Given the description of an element on the screen output the (x, y) to click on. 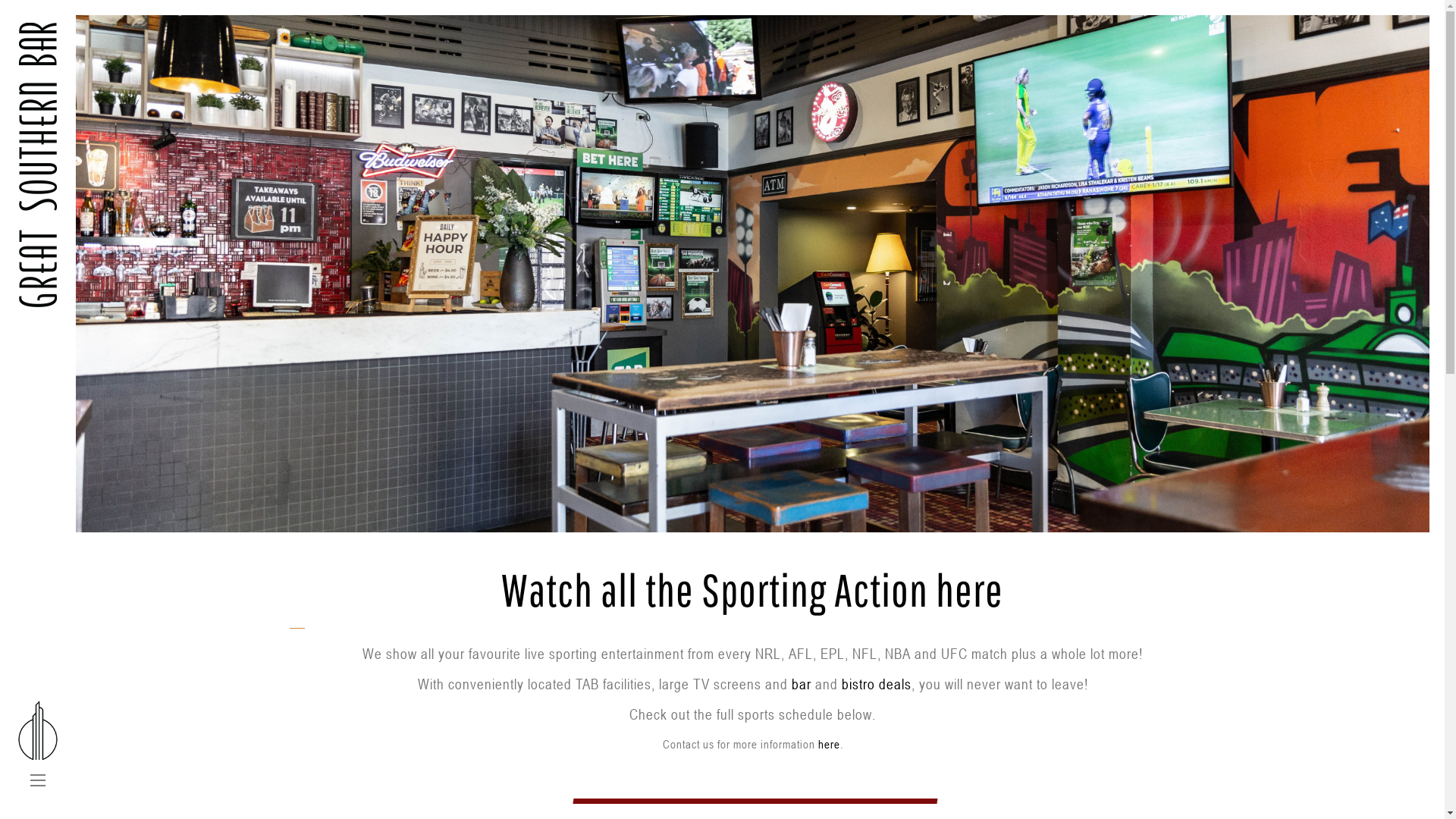
here Element type: text (828, 743)
toggle menu Element type: text (37, 780)
bistro deals Element type: text (876, 683)
bar Element type: text (801, 683)
